Given the description of an element on the screen output the (x, y) to click on. 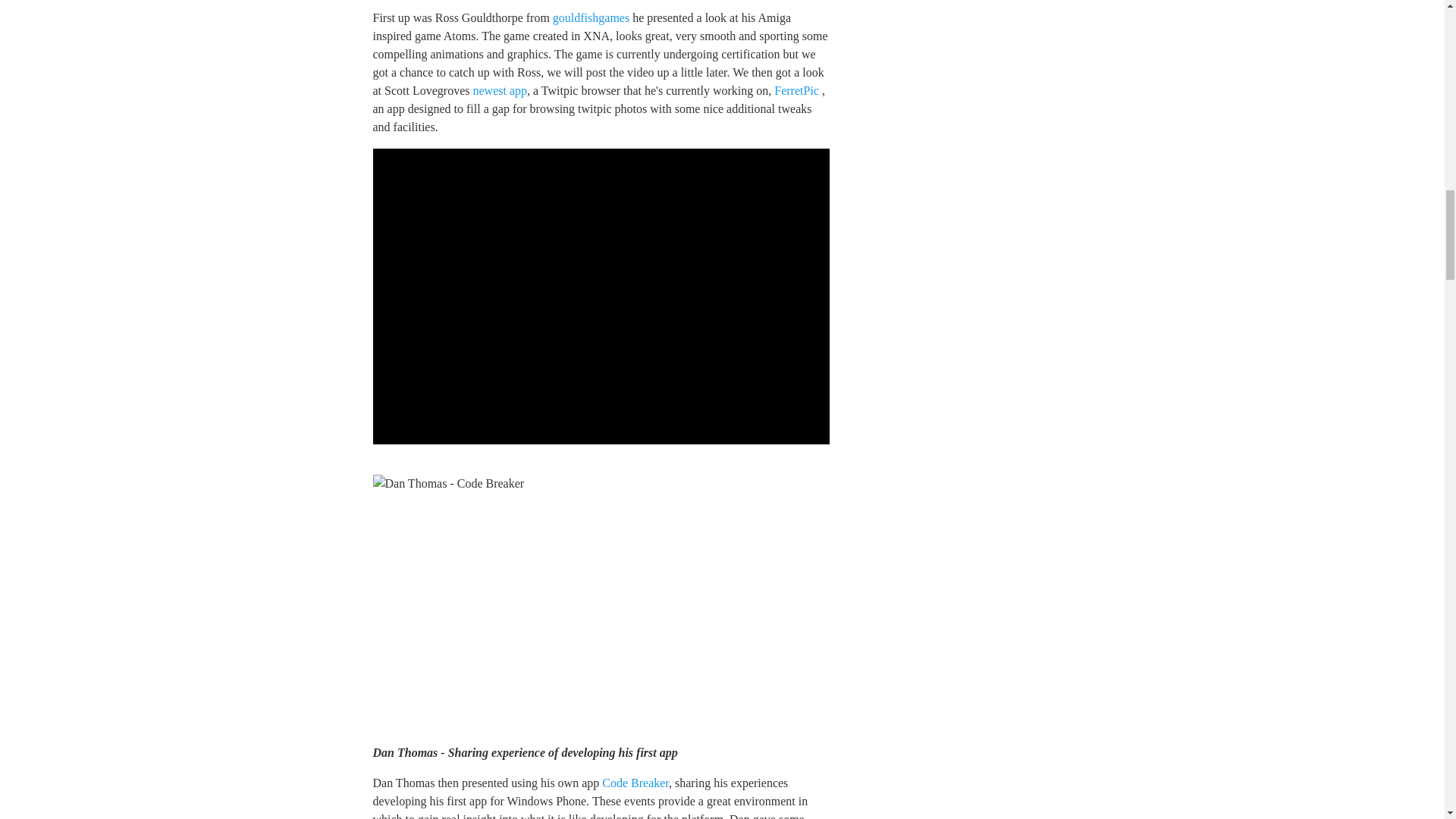
gouldfishgames (590, 17)
FerretPic (796, 90)
Code Breaker (635, 782)
newest app (499, 90)
